Given the description of an element on the screen output the (x, y) to click on. 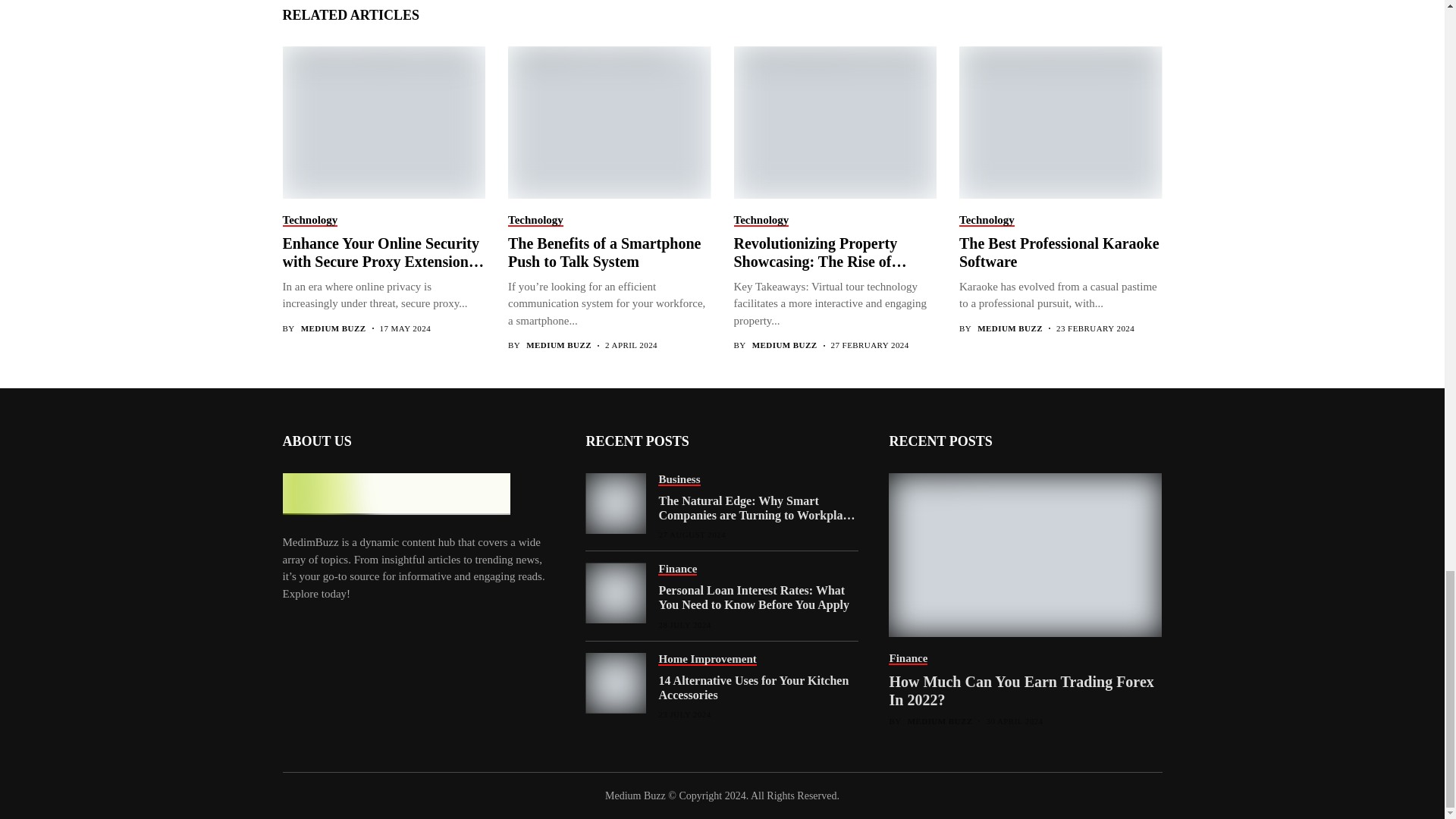
Posts by Medium Buzz (333, 328)
Posts by Medium Buzz (558, 345)
Posts by Medium Buzz (784, 345)
Posts by Medium Buzz (939, 721)
Posts by Medium Buzz (1009, 328)
